Given the description of an element on the screen output the (x, y) to click on. 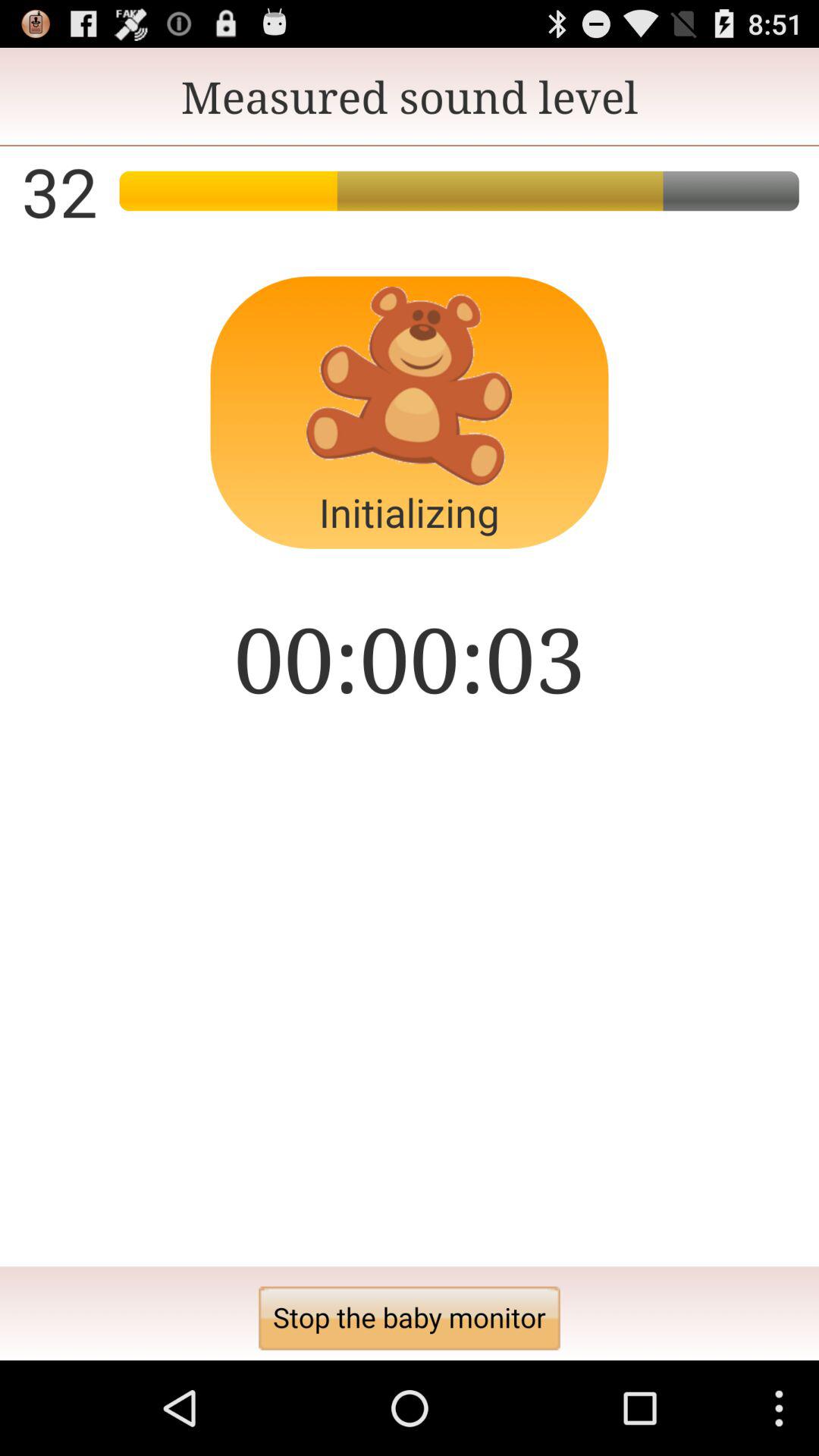
click button at the bottom (409, 1318)
